Given the description of an element on the screen output the (x, y) to click on. 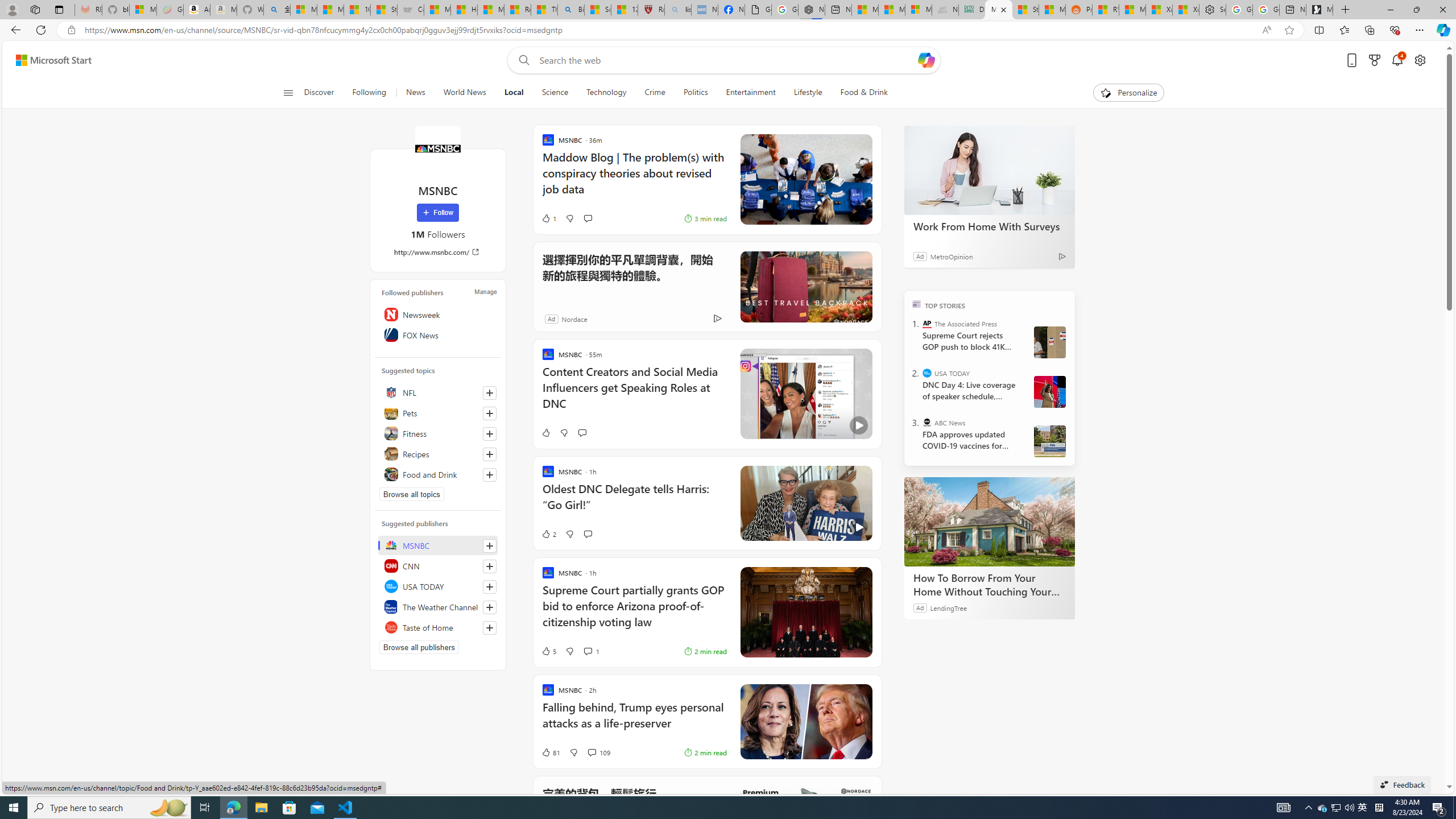
1 Like (547, 218)
ABC News (927, 422)
Robert H. Shmerling, MD - Harvard Health (651, 9)
